Given the description of an element on the screen output the (x, y) to click on. 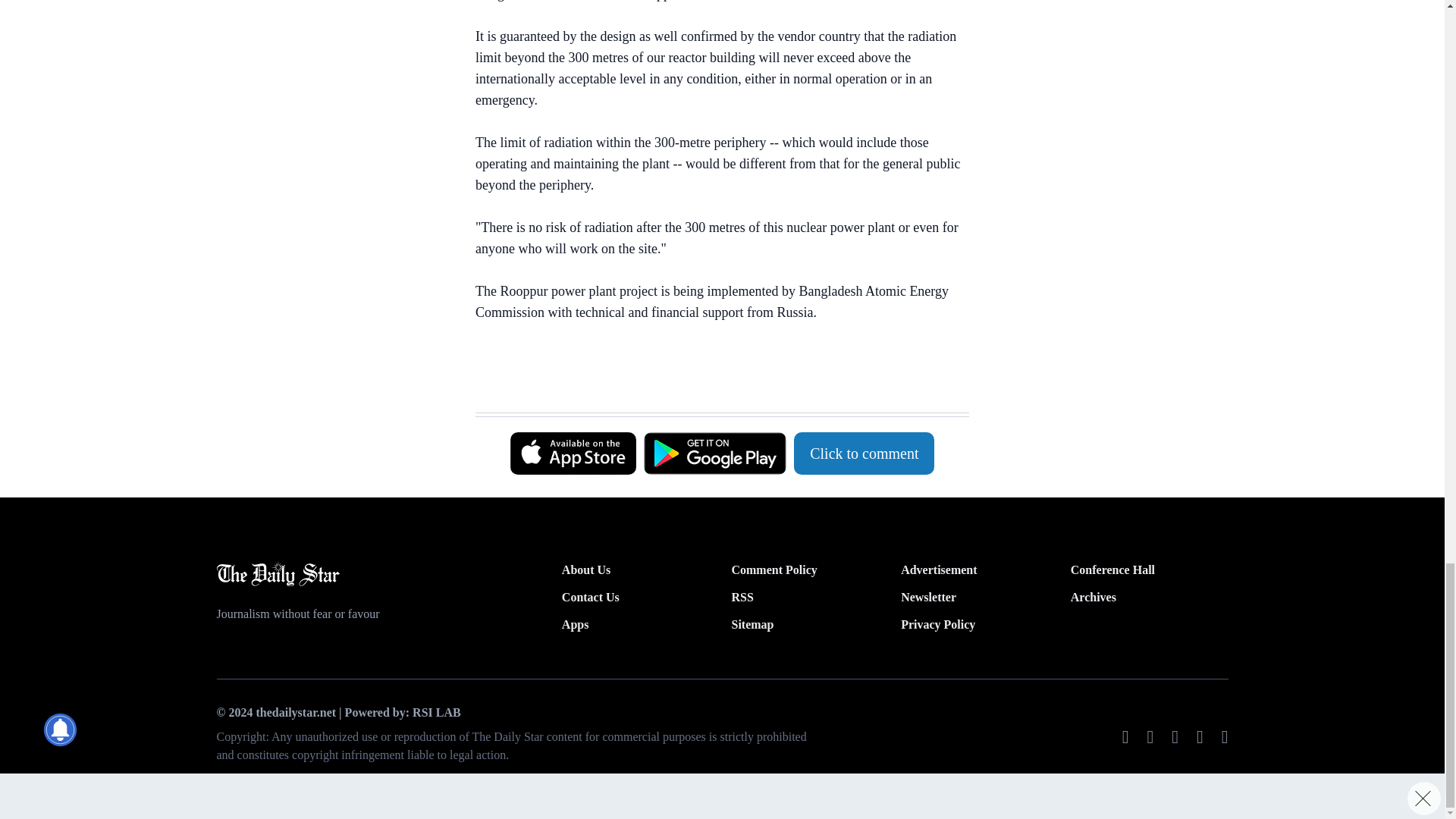
3rd party ad content (714, 374)
